Given the description of an element on the screen output the (x, y) to click on. 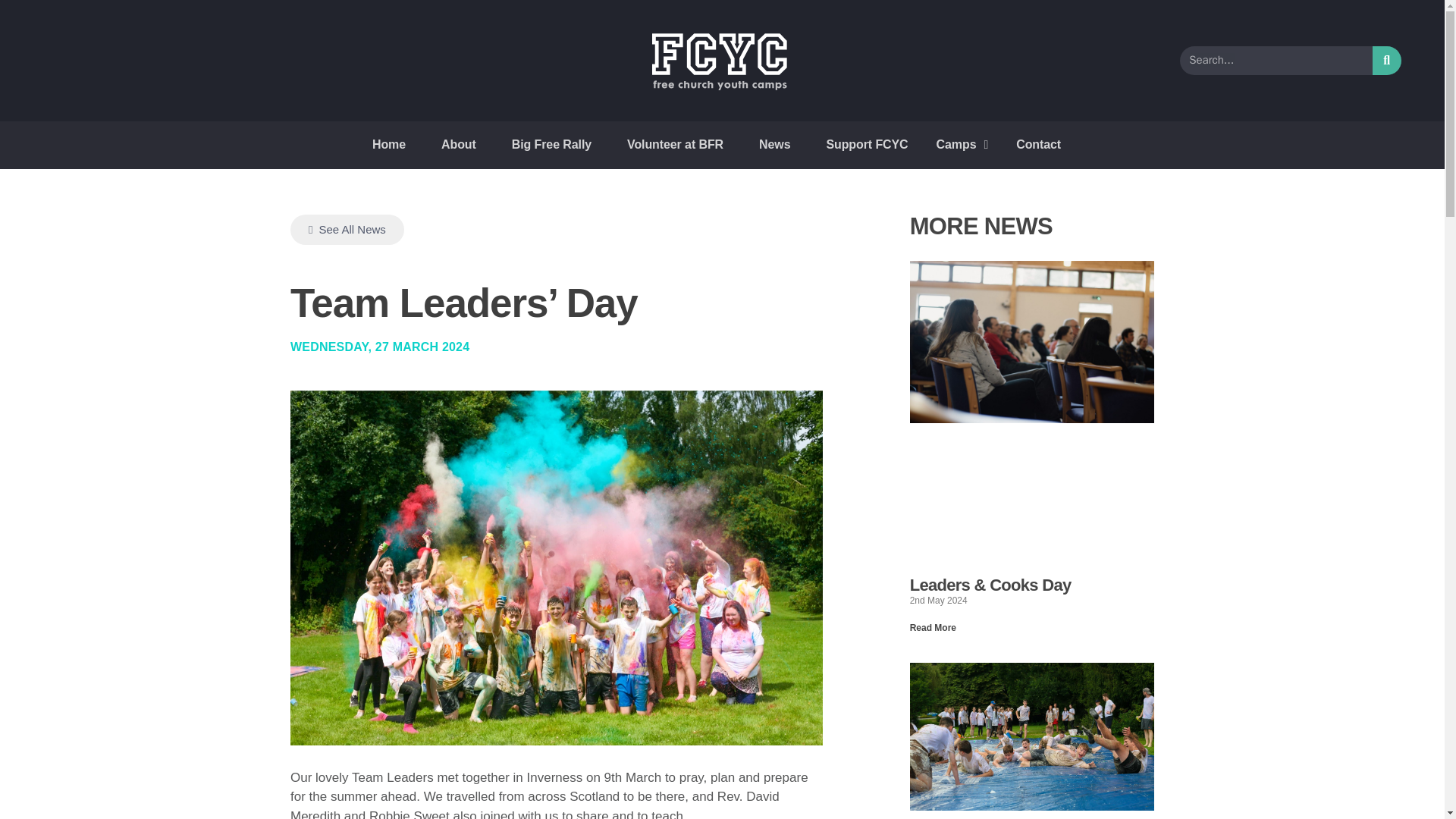
Support FCYC (866, 144)
Contact (1038, 144)
Big Free Rally (550, 144)
News (774, 144)
Volunteer at BFR (675, 144)
Home (389, 144)
About (458, 144)
Camps (962, 144)
